Given the description of an element on the screen output the (x, y) to click on. 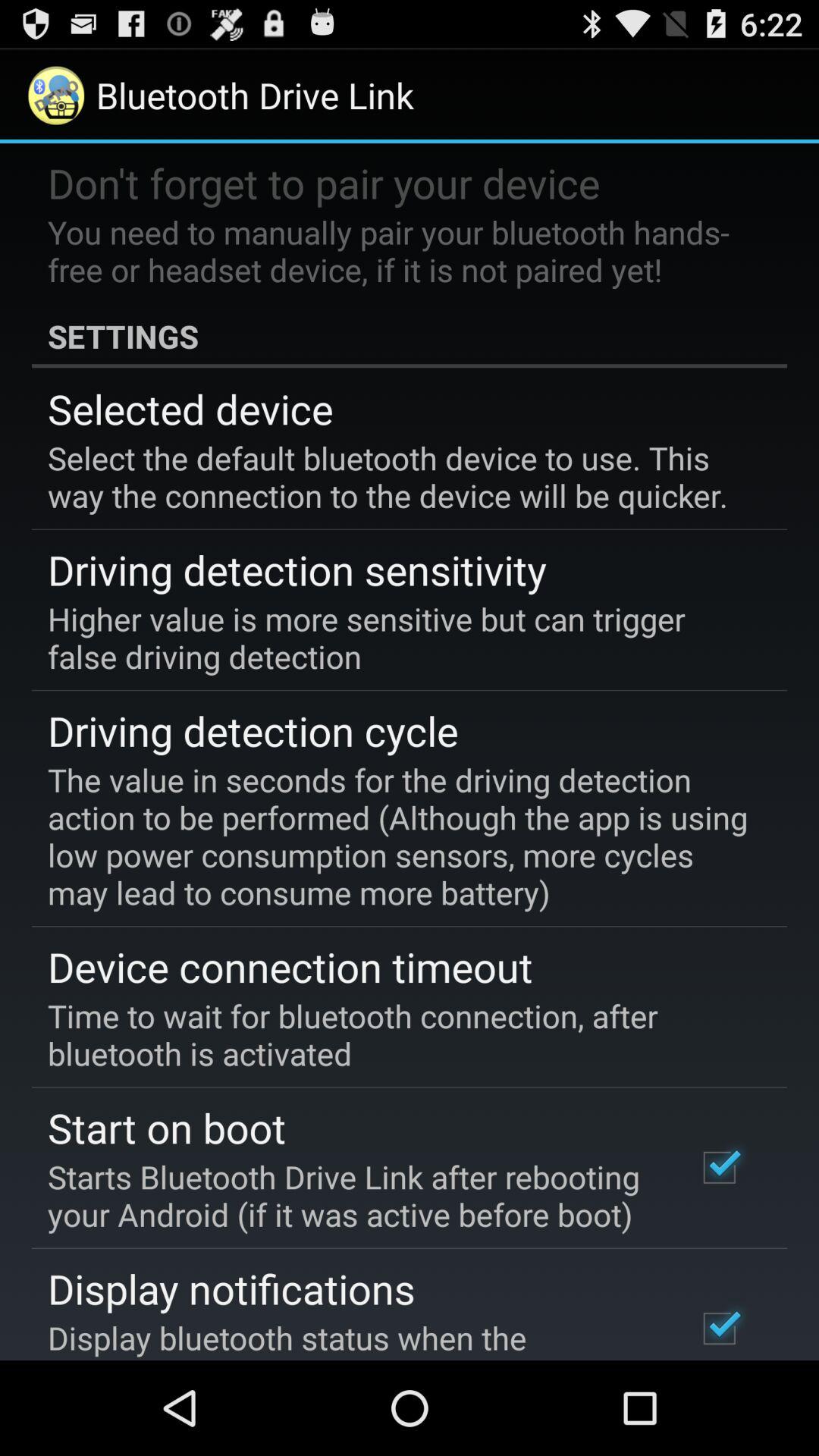
open start on boot (166, 1127)
